Given the description of an element on the screen output the (x, y) to click on. 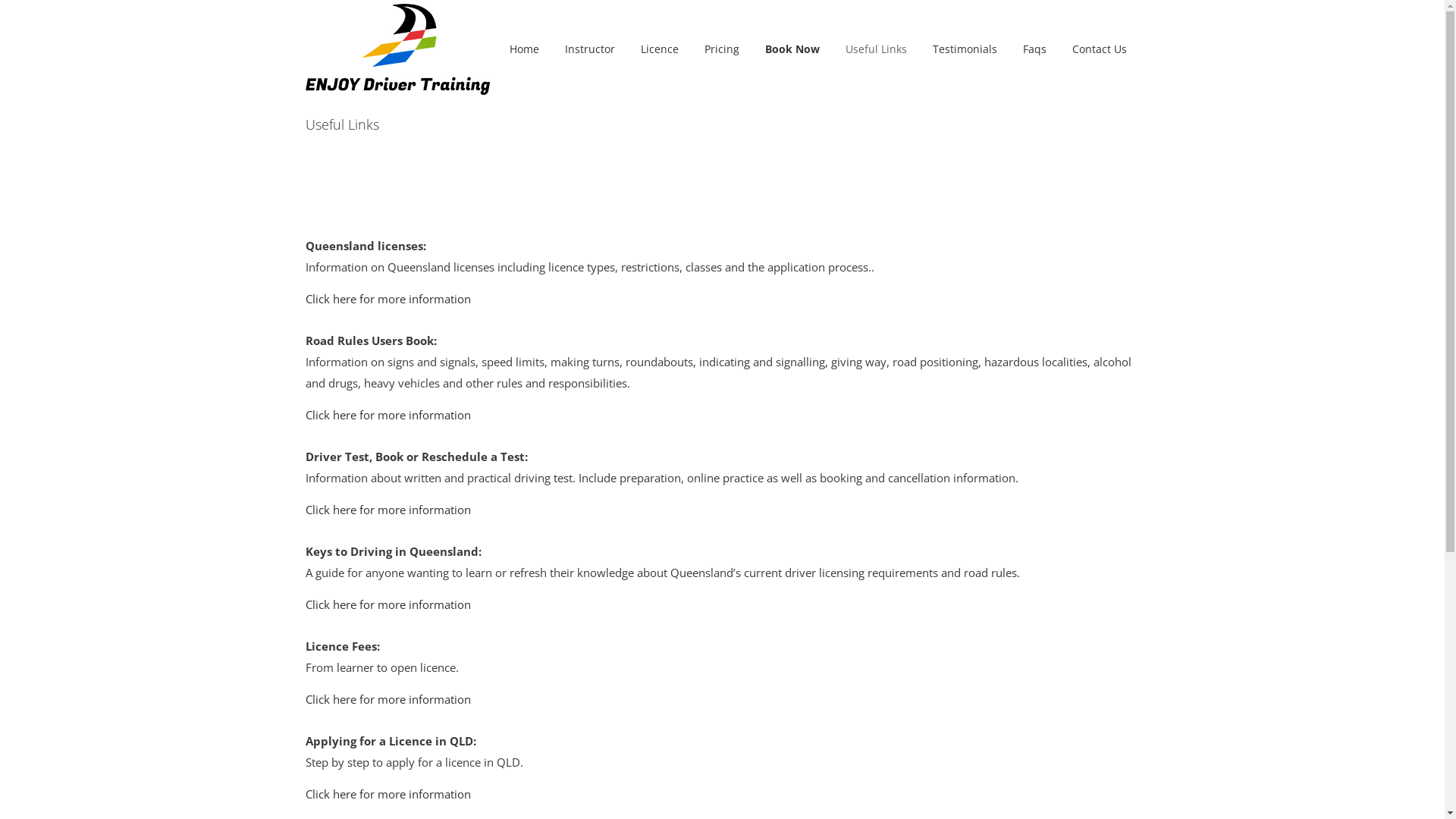
Click here for more information Element type: text (387, 414)
Contact Us Element type: text (1098, 49)
Faqs Element type: text (1034, 49)
Click here for more information Element type: text (387, 509)
Testimonials Element type: text (964, 49)
Home Element type: text (523, 49)
Pricing Element type: text (721, 49)
Click here for more information Element type: text (387, 793)
Book Now Element type: text (792, 49)
Click here for more information Element type: text (387, 298)
Click here for more information Element type: text (387, 698)
Instructor Element type: text (589, 49)
Click here for more information Element type: text (387, 603)
Useful Links Element type: text (875, 49)
Licence Element type: text (659, 49)
